Given the description of an element on the screen output the (x, y) to click on. 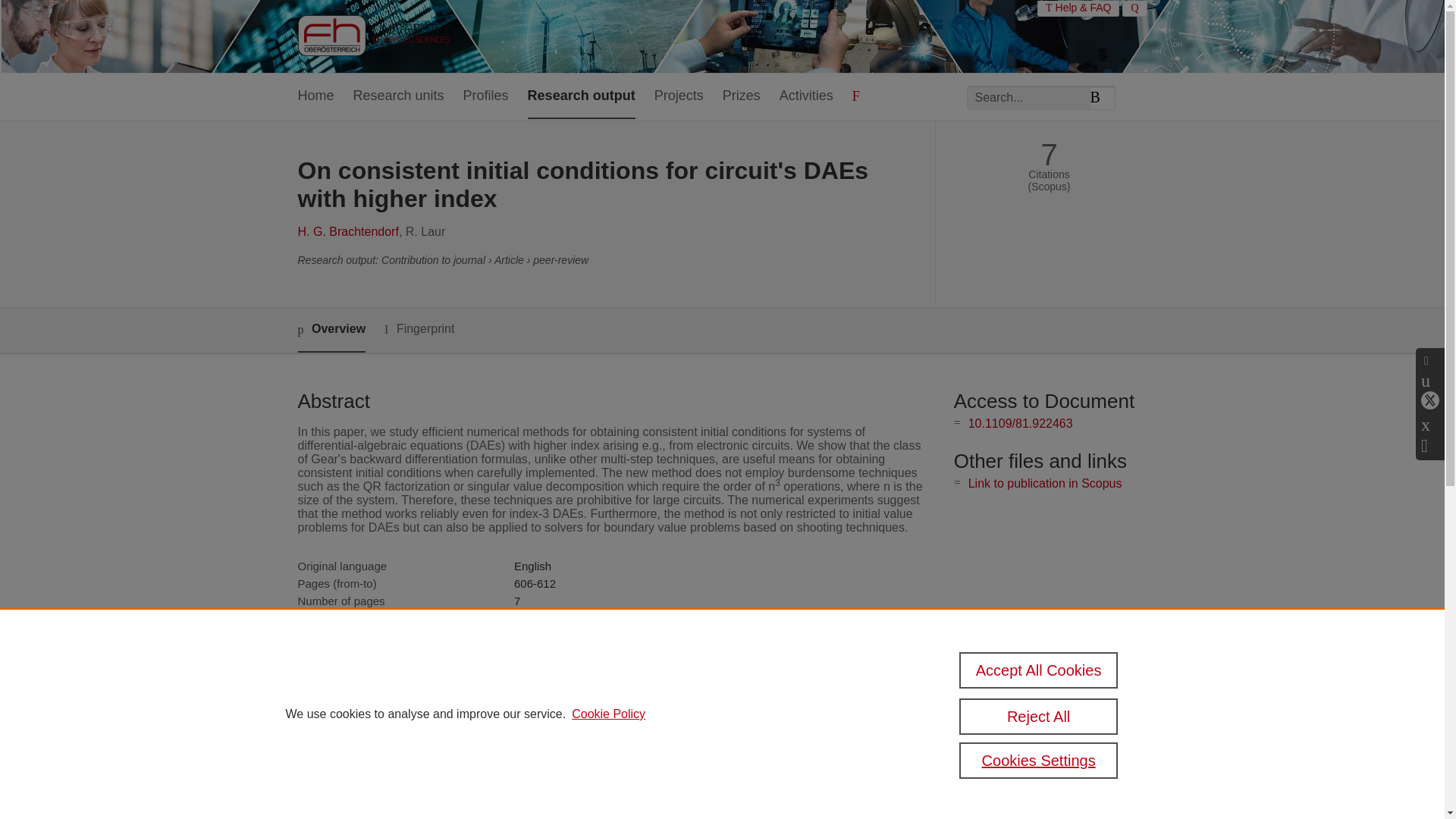
Projects (678, 96)
Research units (398, 96)
Research output (580, 96)
University of Applied Sciences Upper Austria Home (372, 36)
H. G. Brachtendorf (347, 231)
Link to publication in Scopus (1045, 482)
Overview (331, 329)
Fingerprint (419, 329)
